Given the description of an element on the screen output the (x, y) to click on. 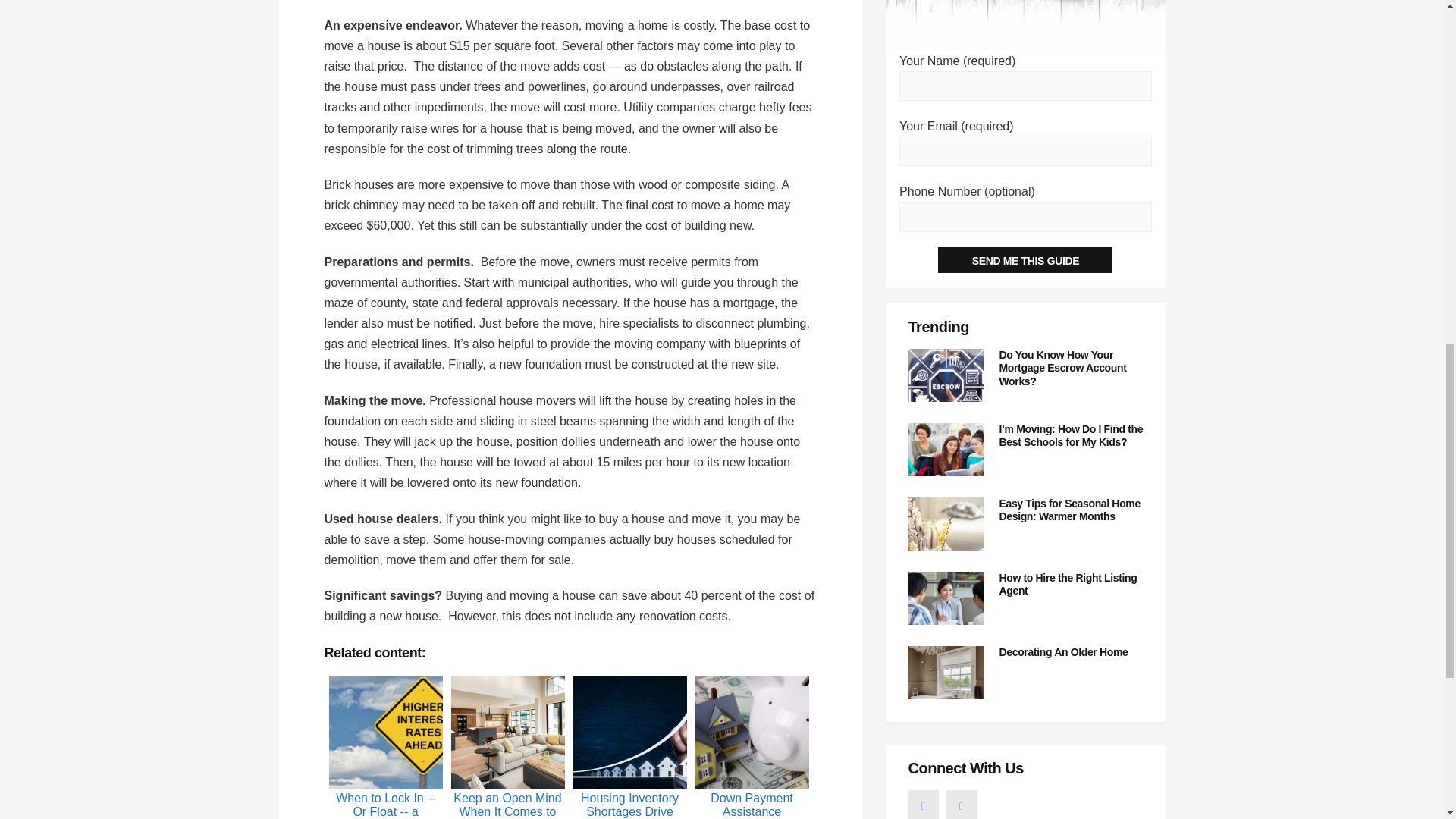
SEND ME THIS GUIDE (1024, 259)
